Given the description of an element on the screen output the (x, y) to click on. 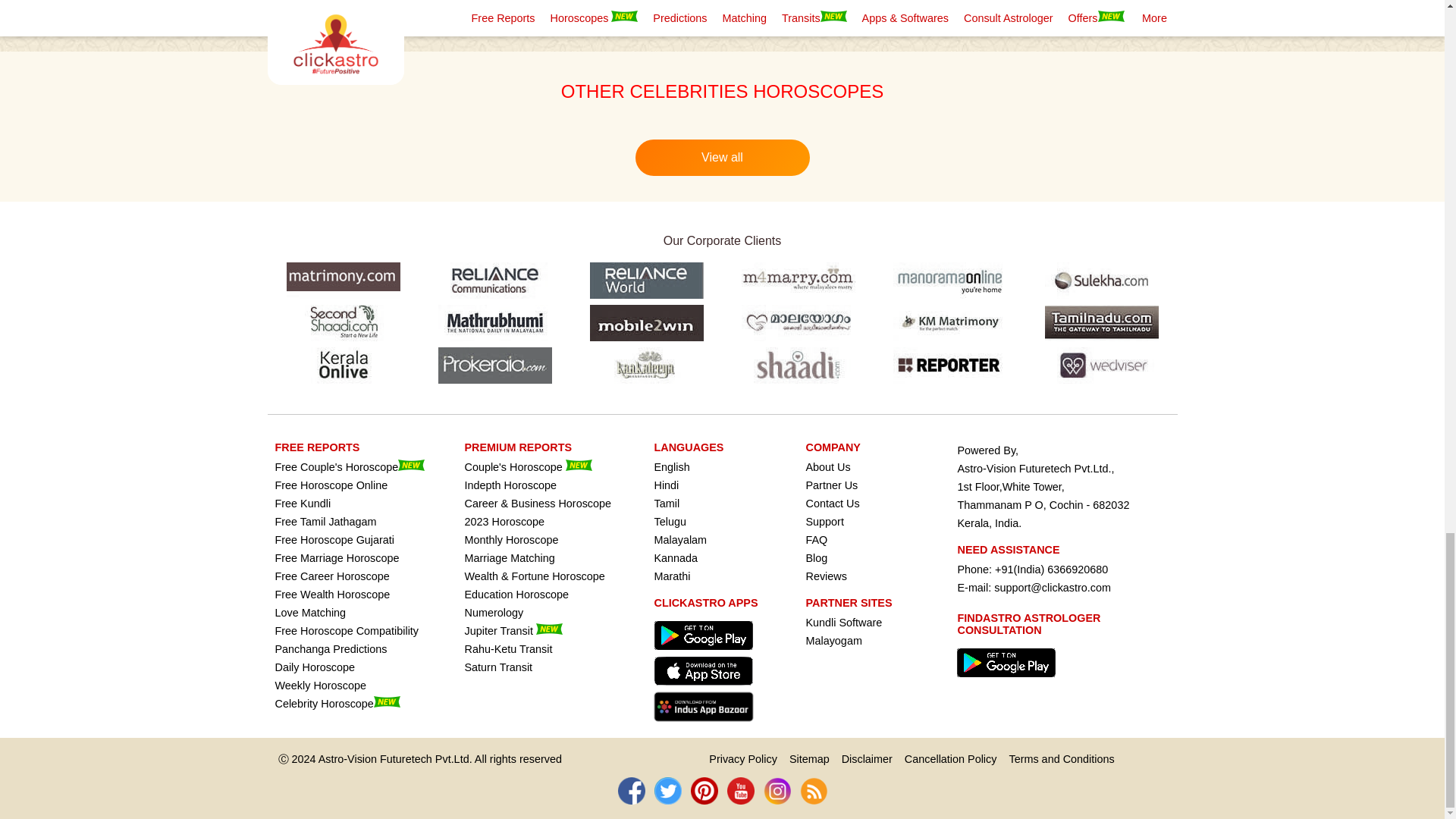
Facebook (631, 790)
Daily Horoscope iOS App (706, 689)
Twitter (667, 790)
Premium Horoscope Reports (518, 447)
RSS (813, 790)
Instagram (776, 790)
Free Horoscope Reports (317, 447)
Astro-Vision (347, 758)
Astrology Consultation (1009, 680)
YouTube (740, 790)
Pinterest (703, 790)
Daily Horoscope App (706, 653)
